Given the description of an element on the screen output the (x, y) to click on. 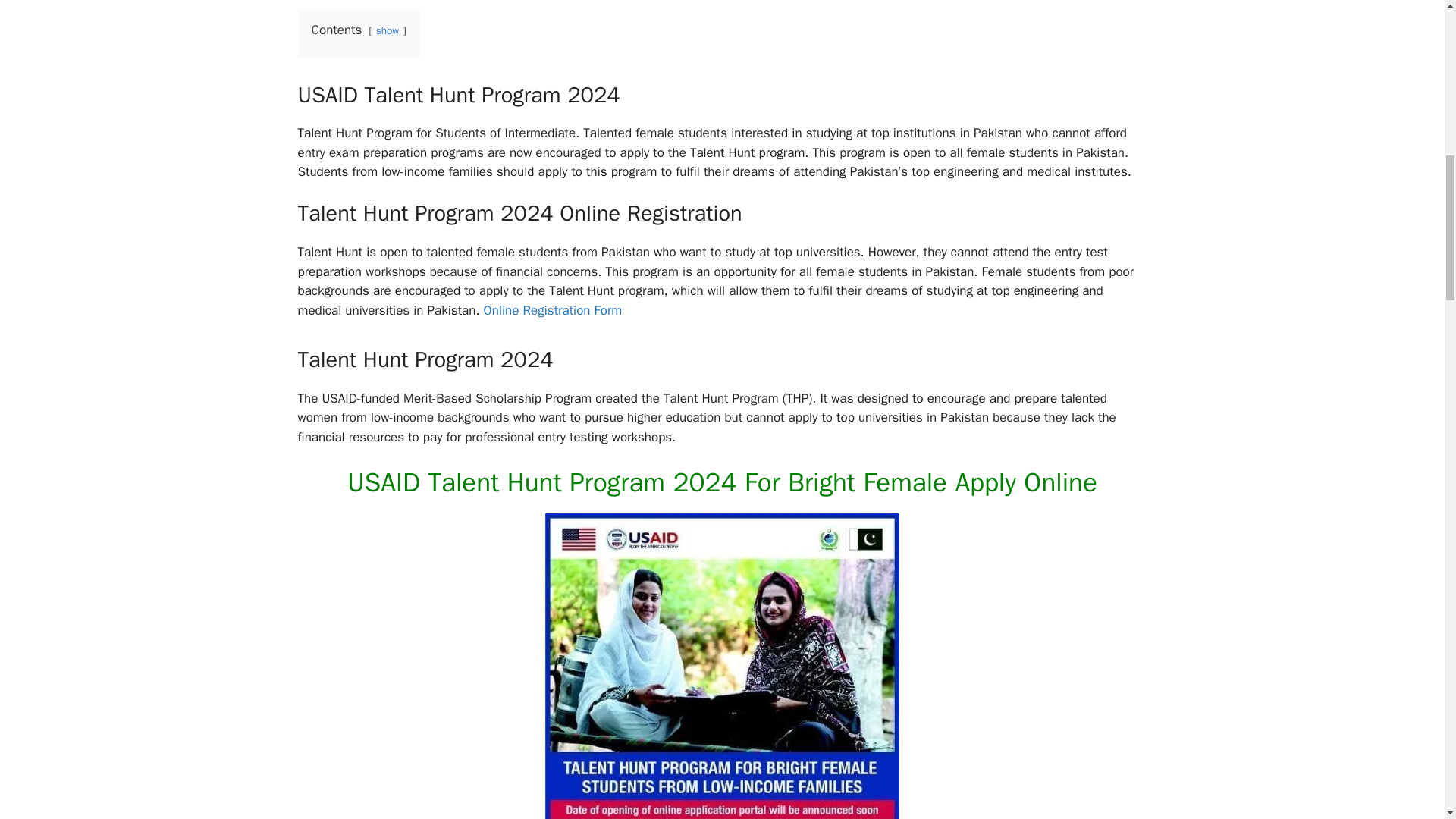
show (386, 30)
Online Registration Form (553, 310)
